Given the description of an element on the screen output the (x, y) to click on. 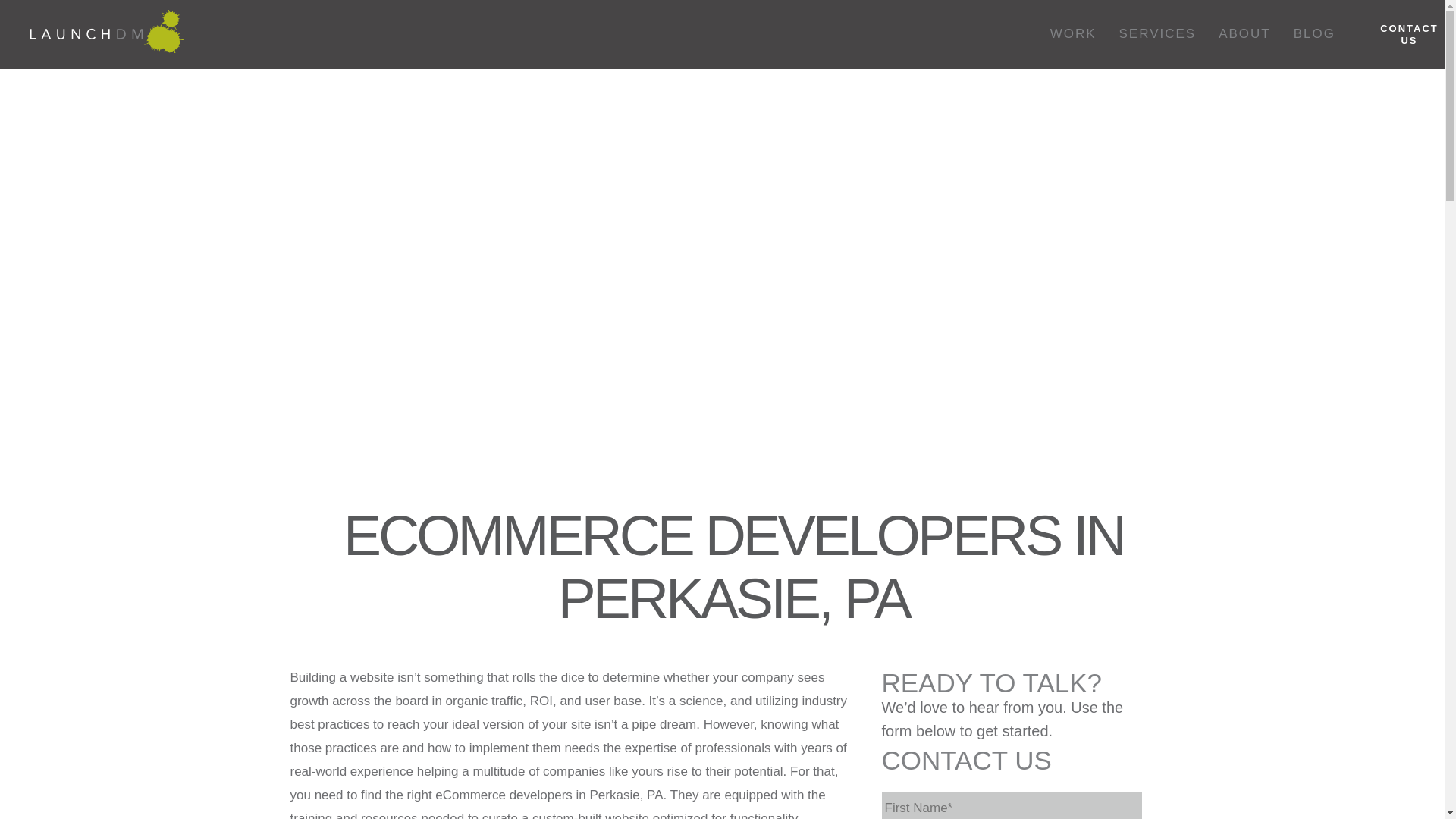
WORK (1073, 34)
Work (1073, 34)
Blog (1314, 34)
ABOUT (1244, 34)
About (1244, 34)
SERVICES (1158, 34)
Services (1158, 34)
BLOG (1314, 34)
